Given the description of an element on the screen output the (x, y) to click on. 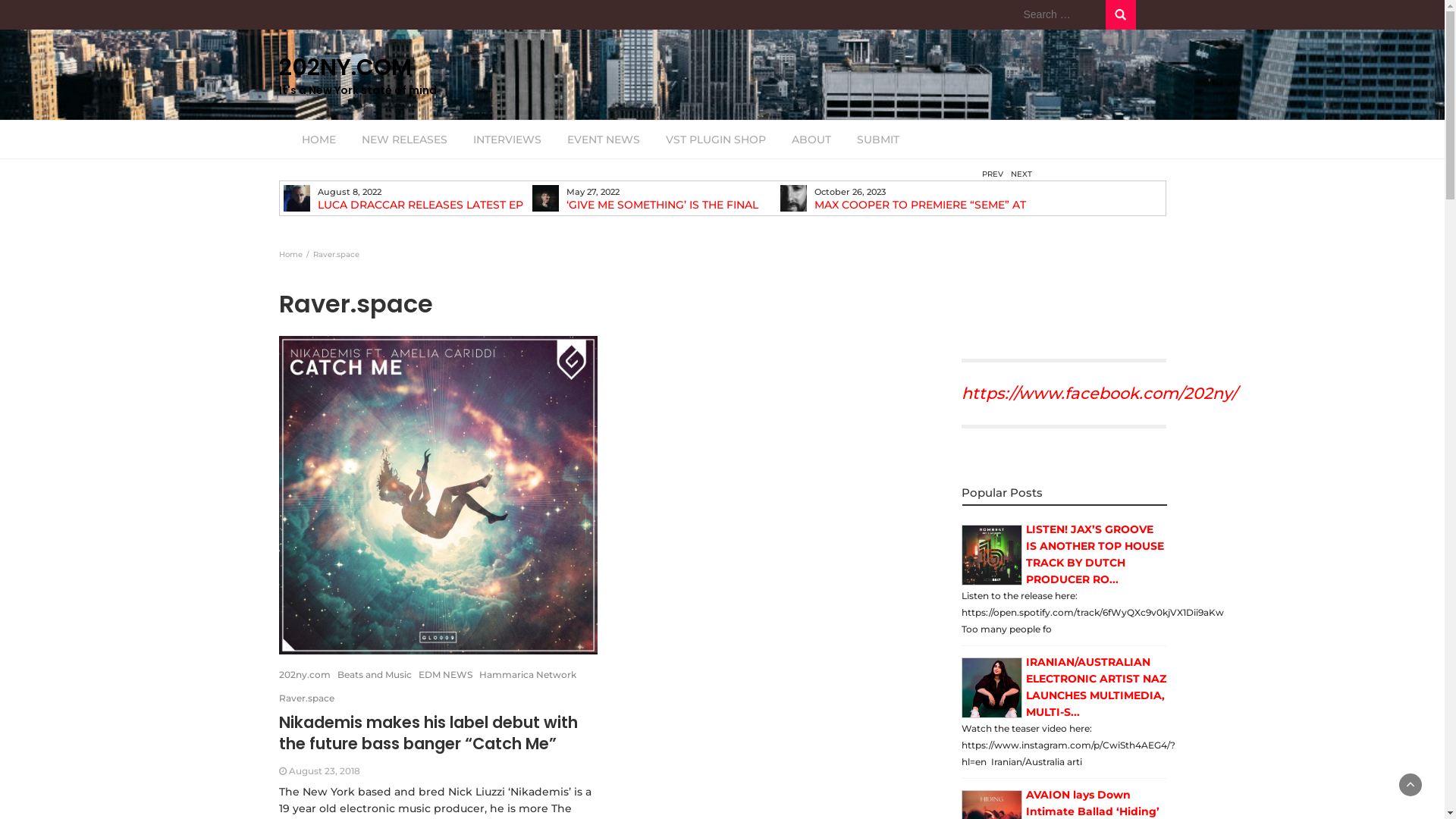
EVENT NEWS Element type: text (602, 139)
Search Element type: text (1120, 14)
  Element type: text (991, 555)
Beats and Music Element type: text (373, 674)
Raver.space Element type: text (306, 697)
Home Element type: text (290, 254)
ABOUT Element type: text (810, 139)
https://www.facebook.com/202ny/ Element type: text (1098, 392)
HOME Element type: text (317, 139)
VST PLUGIN SHOP Element type: text (714, 139)
NEW RELEASES Element type: text (404, 139)
Search for: Element type: hover (1059, 14)
INTERVIEWS Element type: text (506, 139)
Hammarica Network Element type: text (527, 674)
EDM NEWS Element type: text (445, 674)
202NY.COM
It's a New York state of mind Element type: text (419, 74)
August 23, 2018 Element type: text (323, 770)
  Element type: text (991, 688)
202ny.com Element type: text (304, 674)
SUBMIT Element type: text (877, 139)
